Given the description of an element on the screen output the (x, y) to click on. 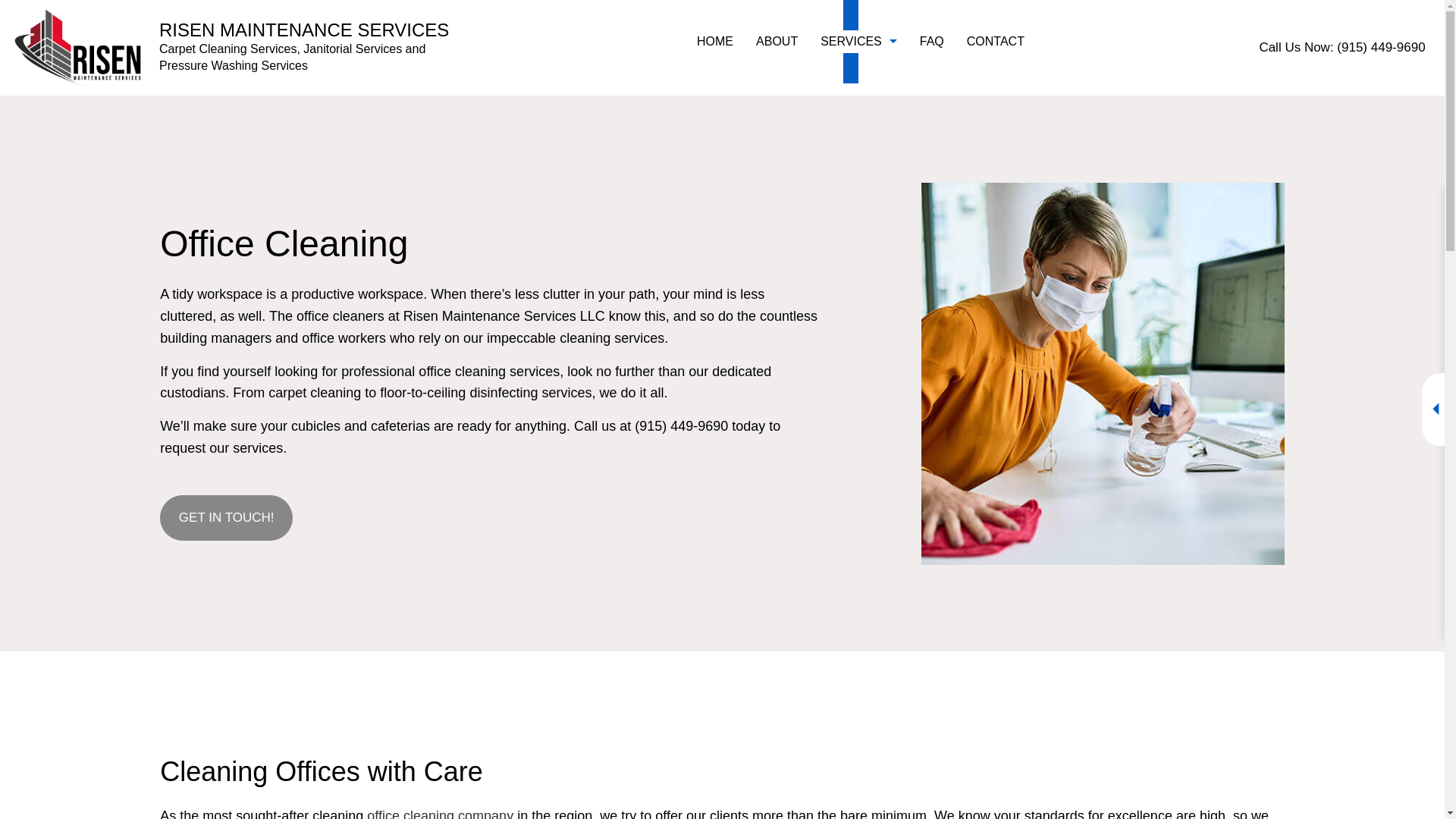
APARTMENT CLEANING (739, 147)
CARPET CLEANING (739, 120)
PRESSURE WASHING (944, 120)
SERVICES (858, 41)
Get in touch with us (226, 517)
Risen Maintenance Services LLC (77, 46)
Learn more about Janitorial Services (439, 813)
BANK CLEANERS (944, 147)
